Given the description of an element on the screen output the (x, y) to click on. 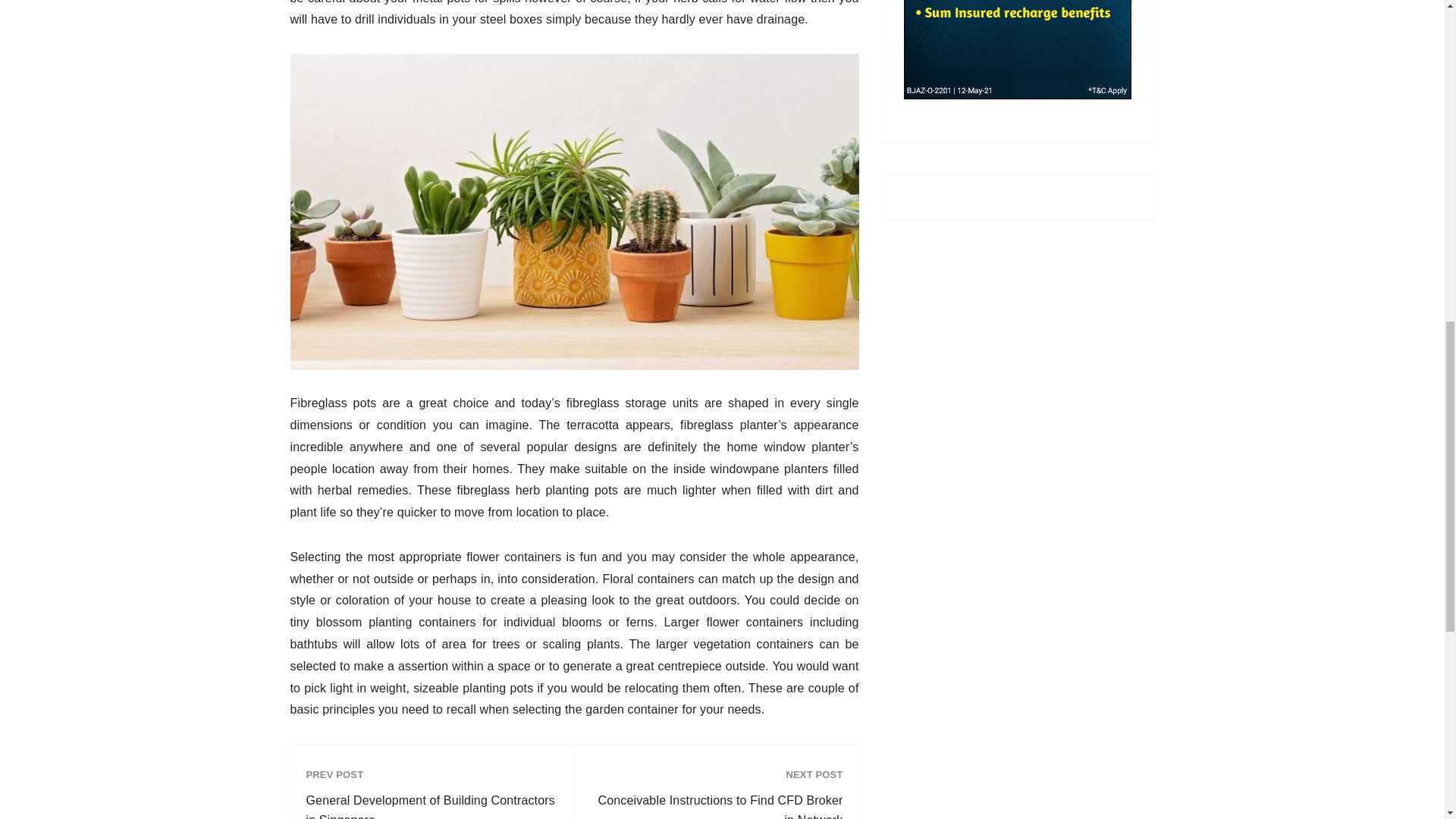
General Development of Building Contractors in Singapore (432, 805)
Conceivable Instructions to Find CFD Broker in Network (716, 805)
